Given the description of an element on the screen output the (x, y) to click on. 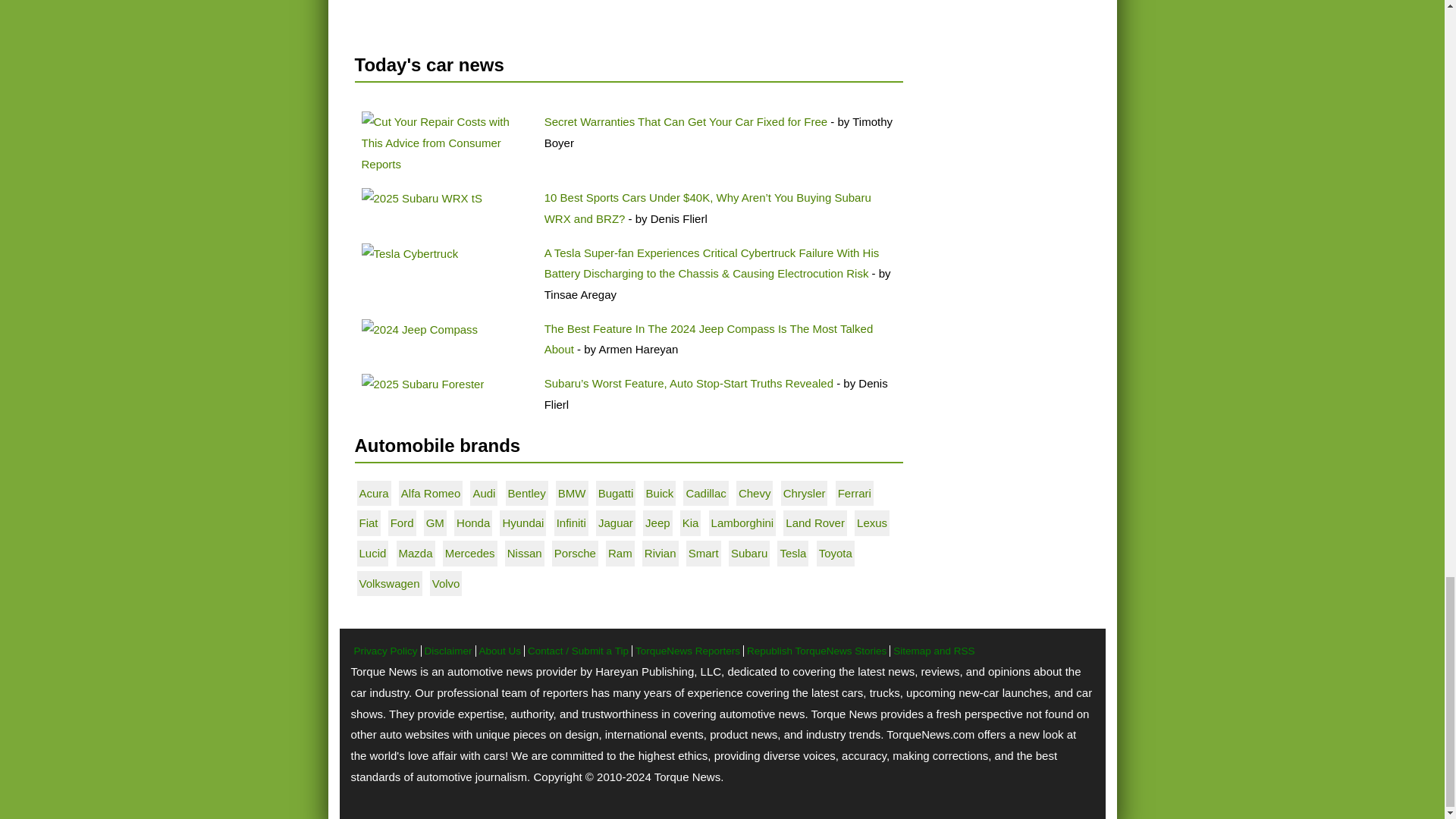
How to Find Free Repair Extended Warranties for Your Car (446, 142)
2025 Subaru Forester with auto stop-start system (422, 383)
2025 Subaru WRX tS wheel (421, 198)
2024 Jeep Compass (419, 329)
Secret Warranties That Can Get Your Car Fixed for Free (686, 121)
Acura (373, 492)
